Given the description of an element on the screen output the (x, y) to click on. 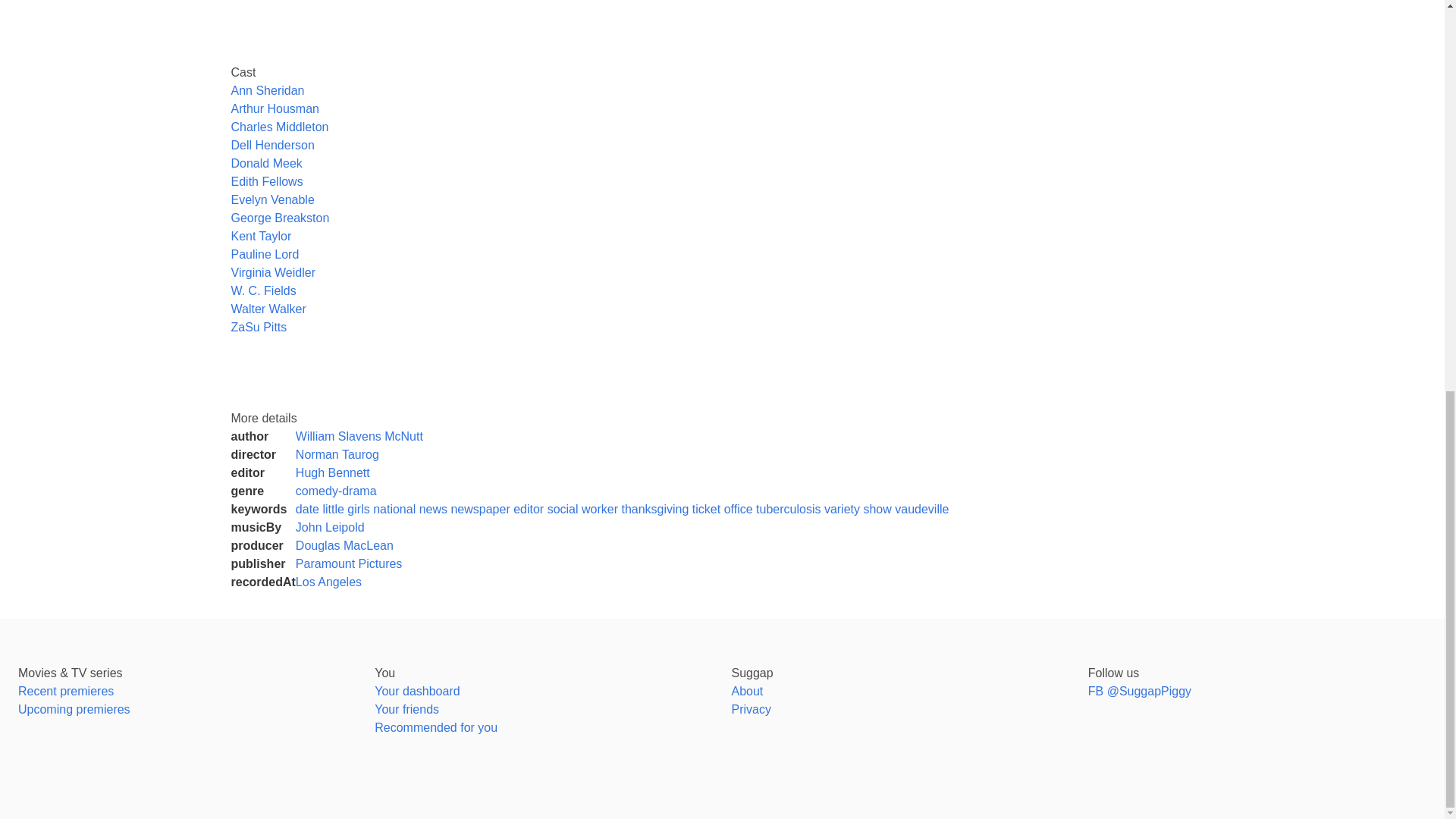
Evelyn Venable (272, 199)
W. C. Fields (262, 290)
ZaSu Pitts (258, 327)
Ann Sheridan (267, 90)
William Slavens McNutt (359, 436)
little girls (345, 508)
Pauline Lord (264, 254)
newspaper editor (496, 508)
Donald Meek (265, 163)
George Breakston (279, 217)
comedy-drama (336, 490)
date (306, 508)
Arthur Housman (274, 108)
national news (409, 508)
Charles Middleton (279, 126)
